Given the description of an element on the screen output the (x, y) to click on. 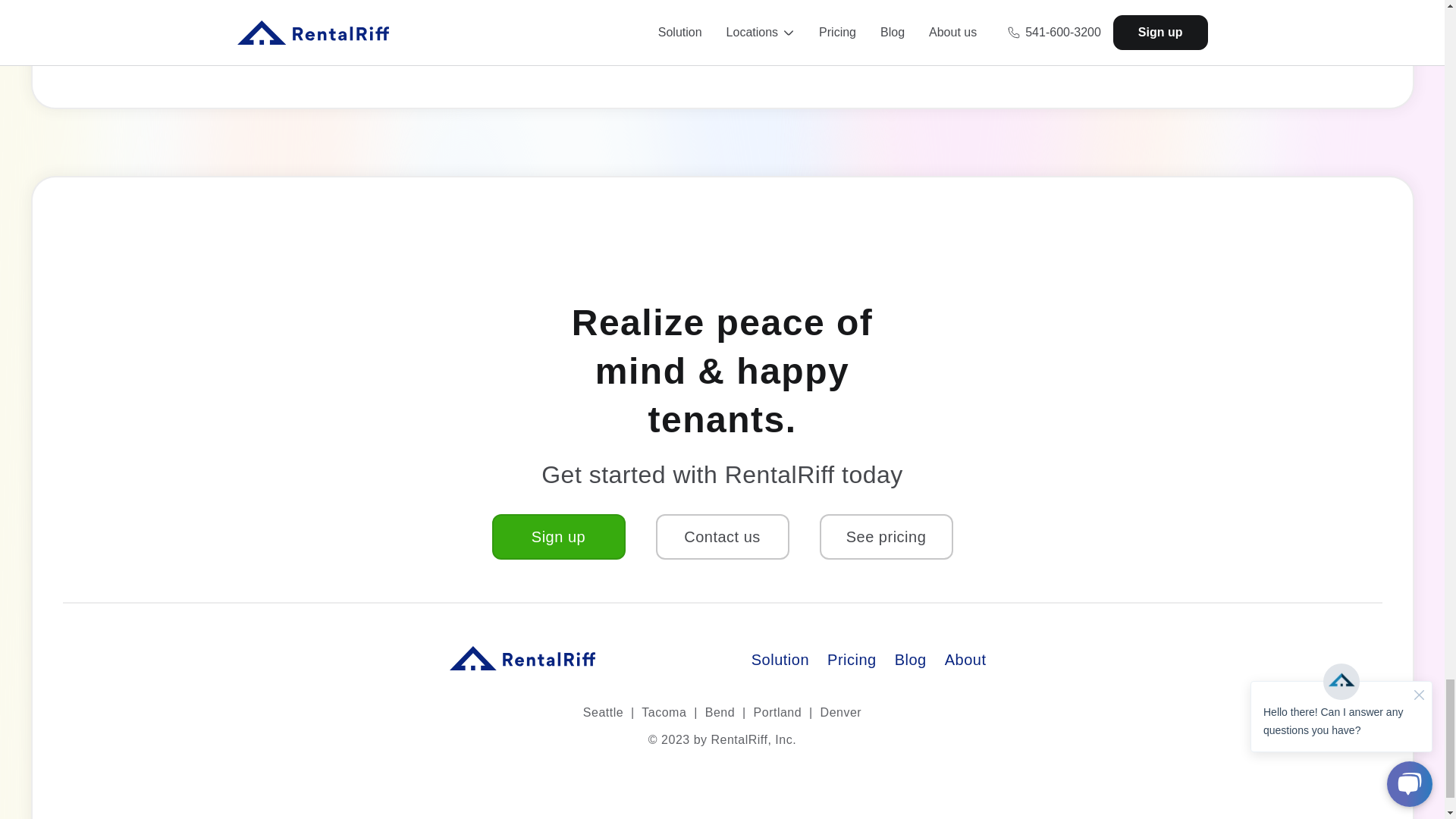
Sign up (558, 536)
See pricing (885, 536)
Pricing (851, 660)
About (965, 660)
Solution (780, 660)
Blog (910, 660)
Contact us (722, 536)
